Given the description of an element on the screen output the (x, y) to click on. 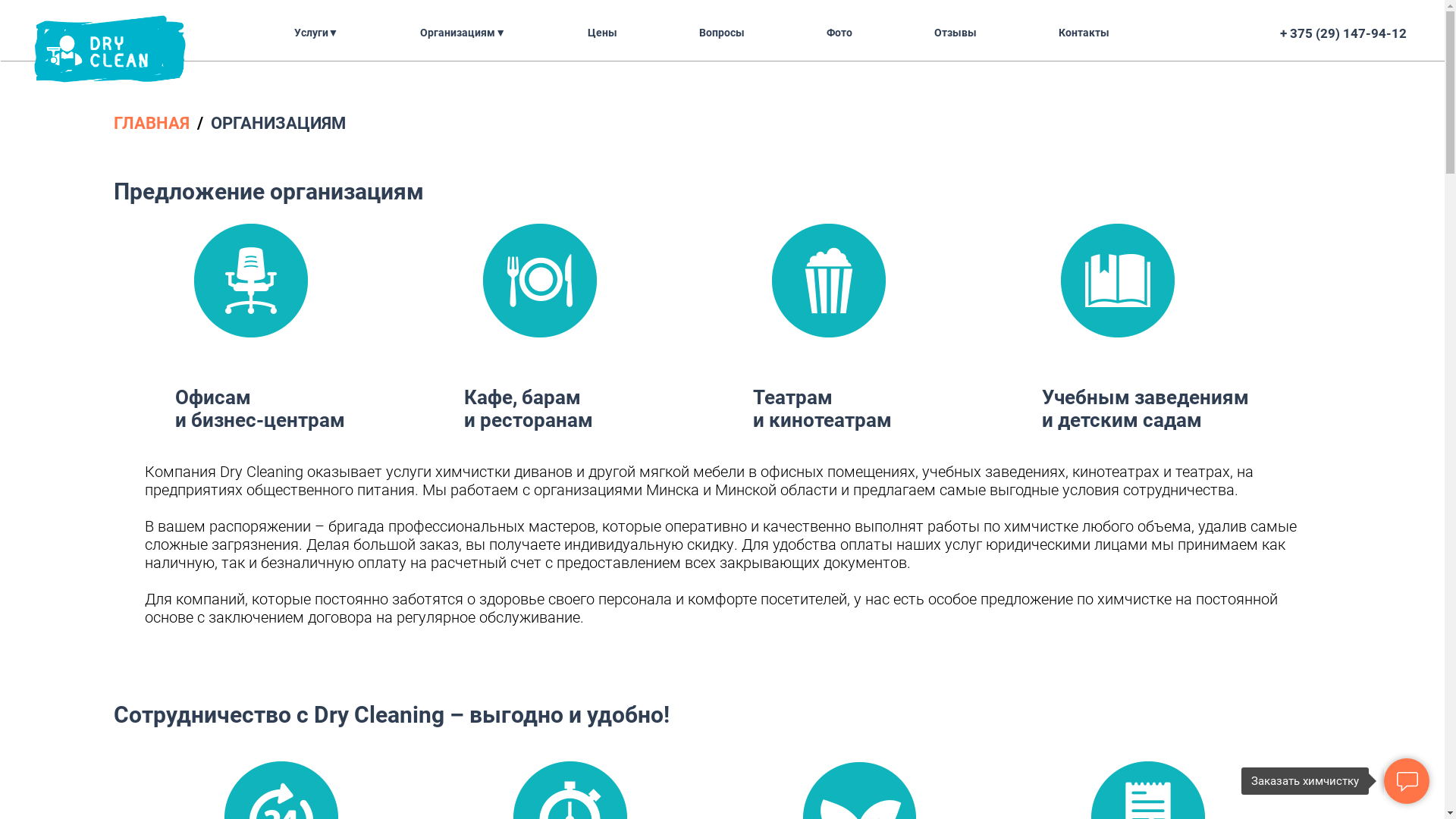
+ 375 (29) 147-94-12 Element type: text (1343, 32)
